Given the description of an element on the screen output the (x, y) to click on. 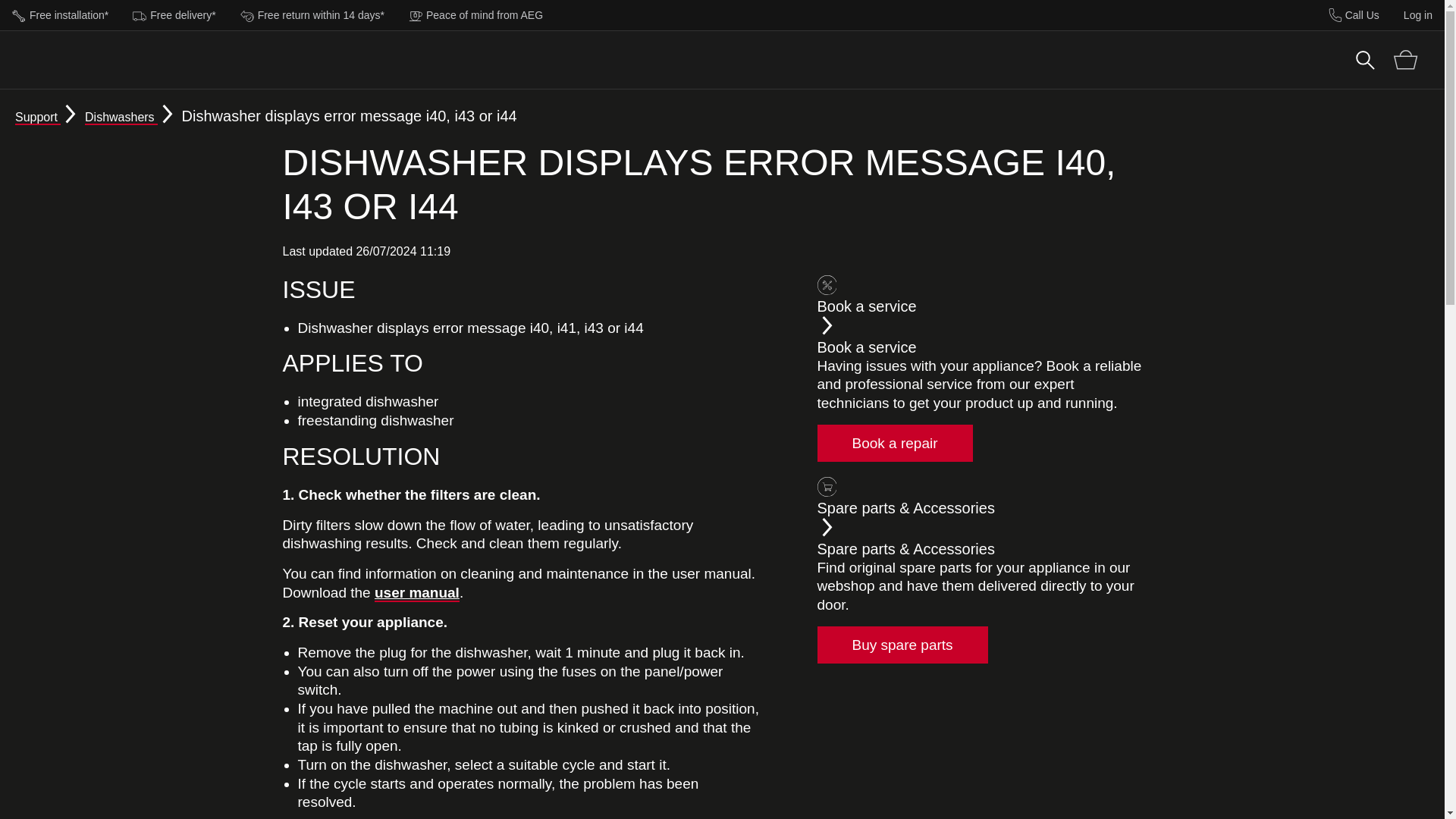
Search (1364, 59)
Call Us (1354, 15)
Peace of mind from AEG (475, 14)
